Given the description of an element on the screen output the (x, y) to click on. 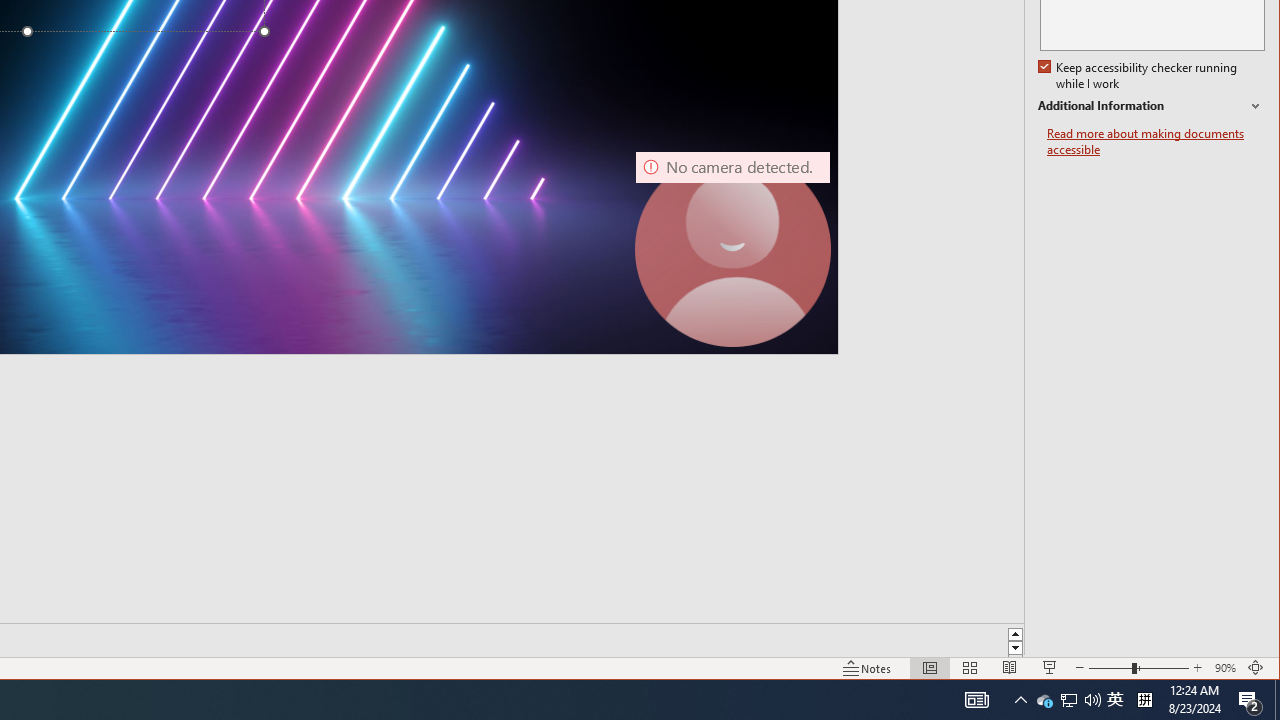
Read more about making documents accessible (1155, 142)
Normal (929, 668)
Additional Information (1151, 106)
Line up (1015, 632)
Zoom to Fit  (1256, 668)
AutomationID: 4105 (976, 699)
Zoom 90% (1115, 699)
Camera 7, No camera detected. (1225, 668)
Slide Sorter (732, 249)
Line down (969, 668)
